Given the description of an element on the screen output the (x, y) to click on. 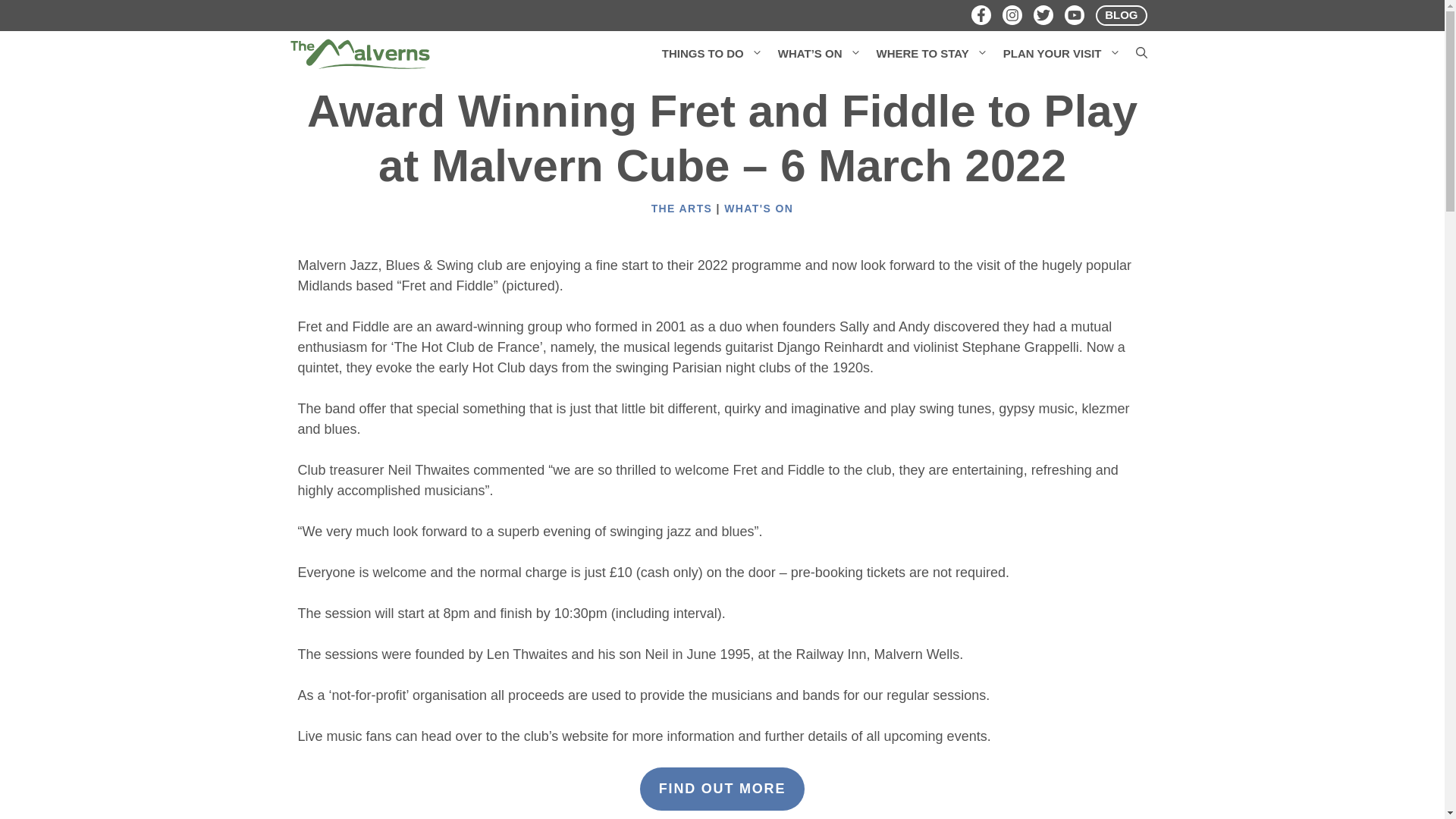
BLOG (1121, 14)
WHERE TO STAY (932, 53)
PLAN YOUR VISIT (1061, 53)
Visit The Malverns (359, 53)
THINGS TO DO (711, 53)
